Given the description of an element on the screen output the (x, y) to click on. 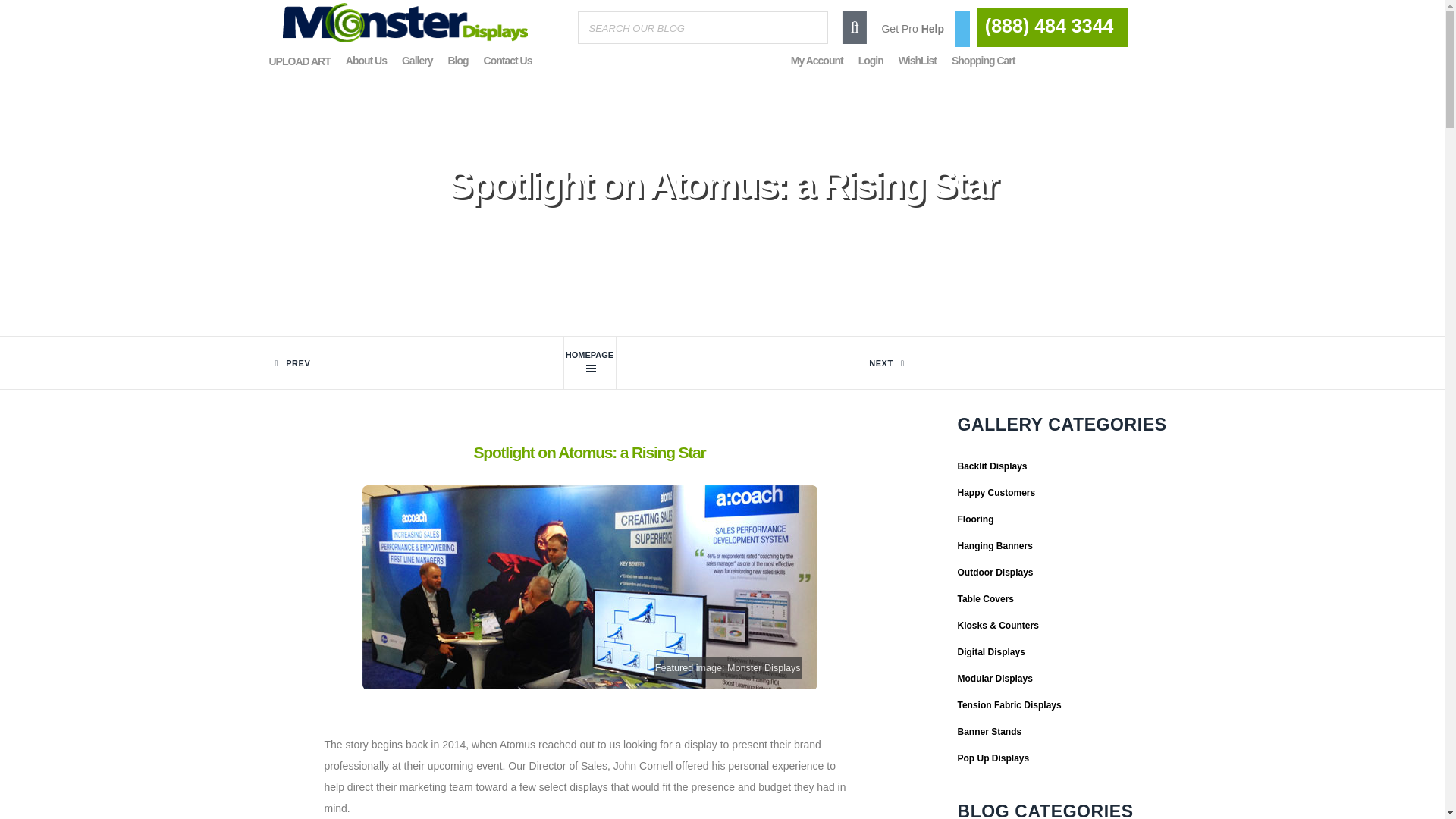
Blog (457, 60)
My Account (816, 60)
PREV (432, 362)
Search for: (703, 27)
Contact Us (508, 60)
Blog (588, 362)
Site logo (404, 42)
Gallery (416, 60)
Login (870, 60)
UPLOAD ART (298, 61)
Site logo (404, 22)
WishList (917, 60)
Shopping Cart (982, 60)
About Us (365, 60)
Email us (1049, 26)
